Given the description of an element on the screen output the (x, y) to click on. 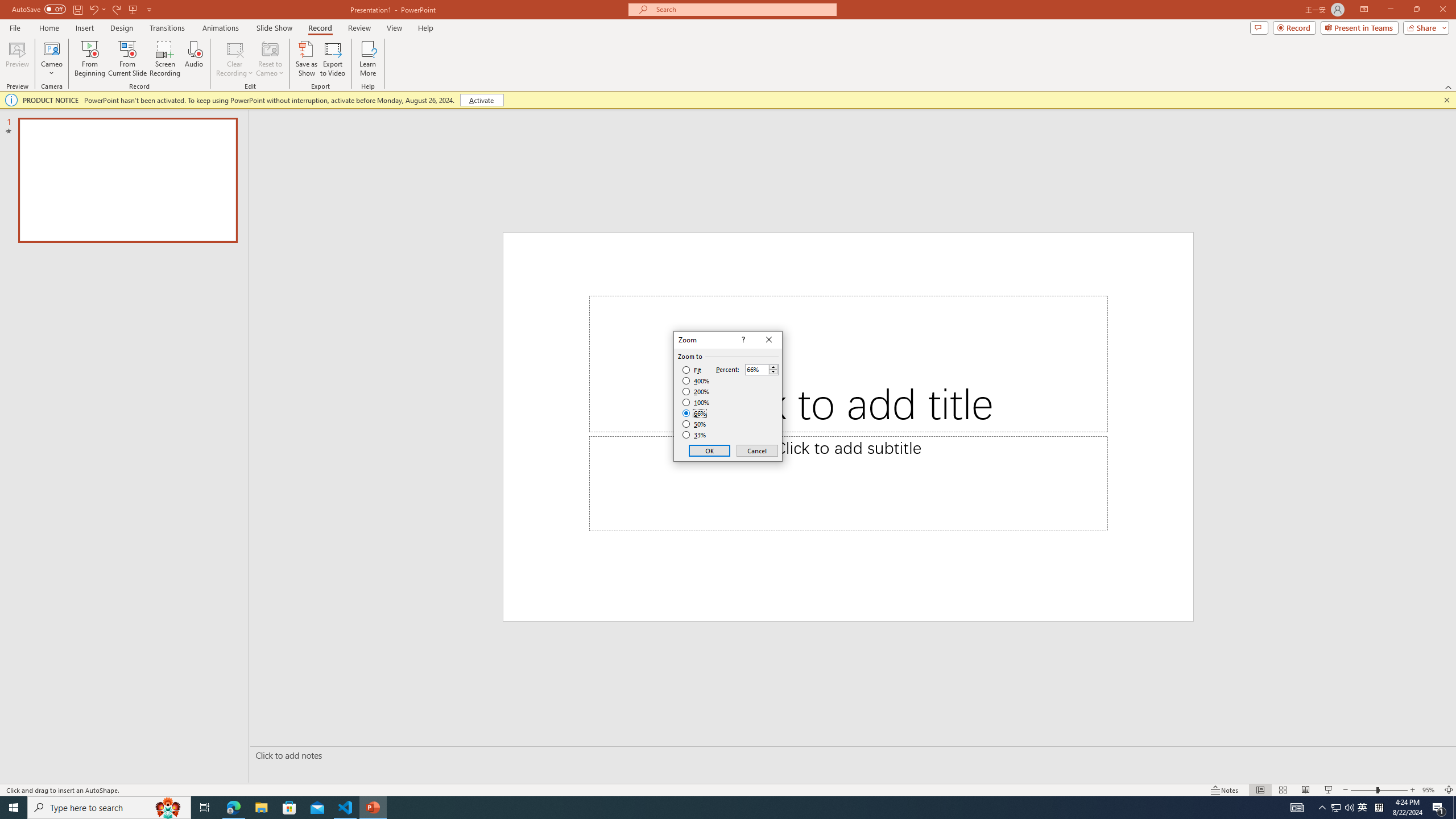
Clear Recording (234, 58)
33% (694, 434)
Cancel (756, 450)
Export to Video (332, 58)
